Given the description of an element on the screen output the (x, y) to click on. 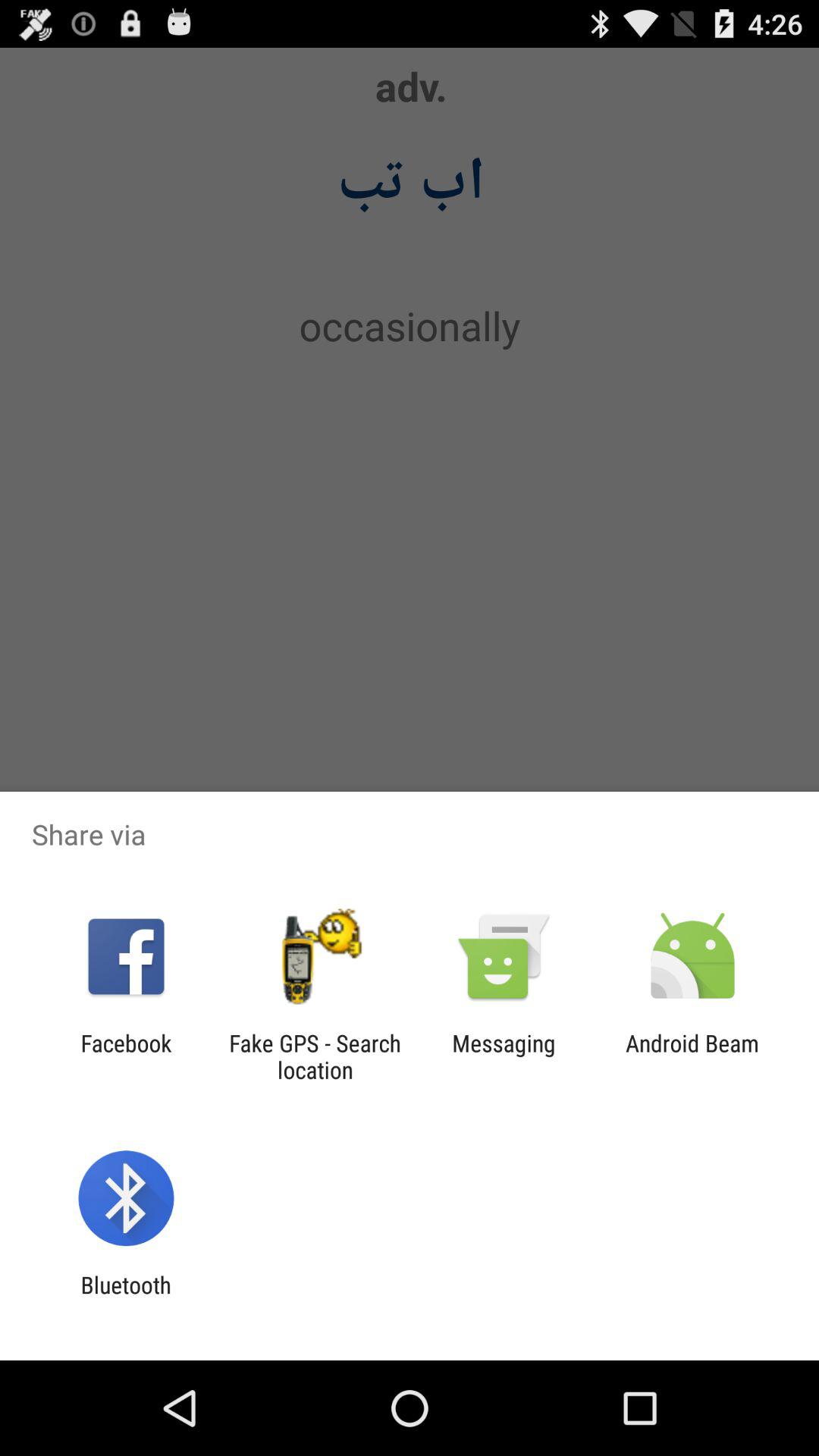
flip to the messaging icon (503, 1056)
